Given the description of an element on the screen output the (x, y) to click on. 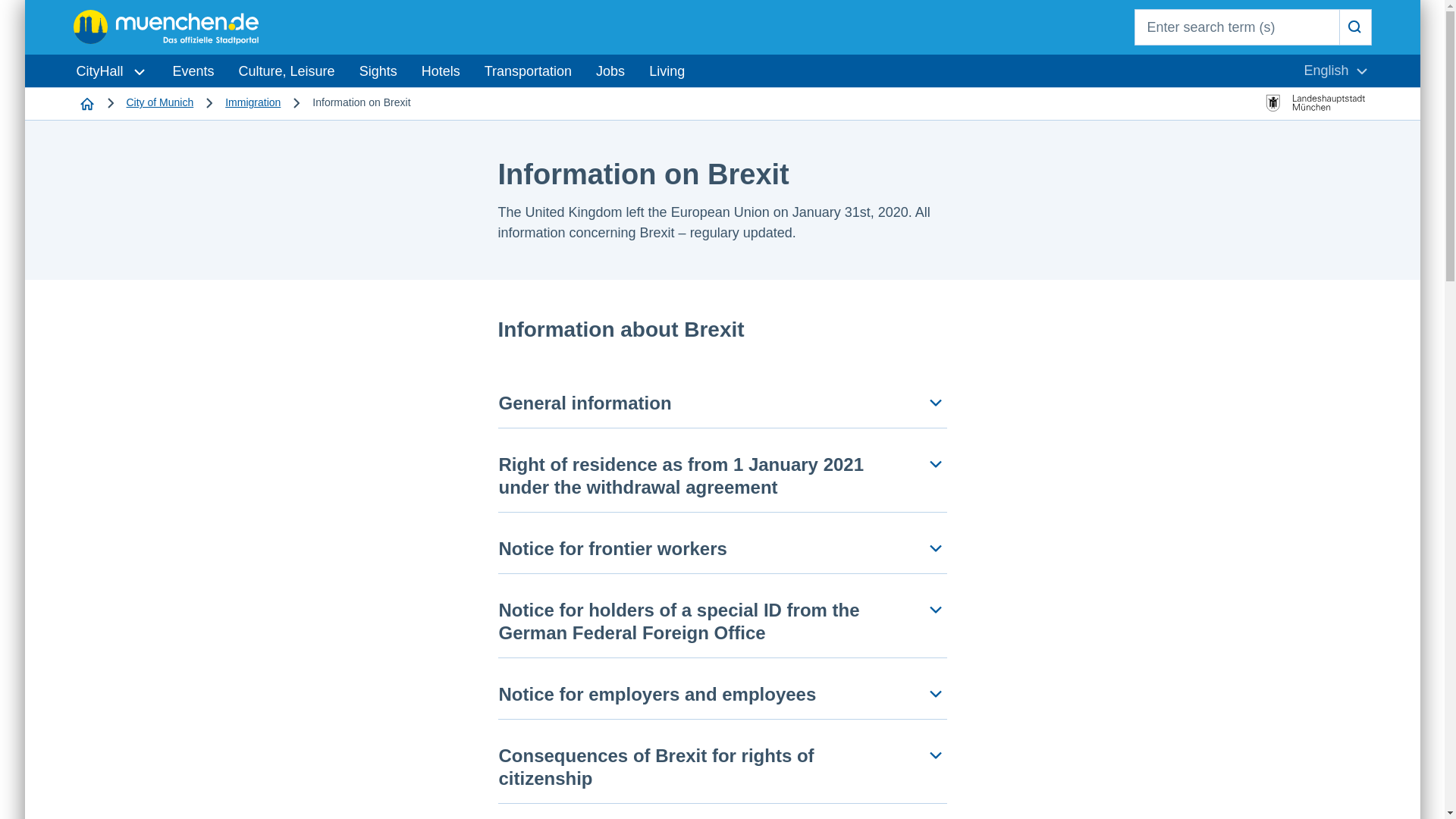
City of Munich (159, 102)
Transportation (527, 71)
Culture, Leisure (287, 71)
General information (721, 403)
Events (193, 71)
Startseite (86, 102)
Jobs (610, 71)
Immigration (252, 102)
Startseite (86, 102)
CityHall (1334, 71)
Sights (112, 71)
Hotels (378, 71)
To home page (440, 71)
